Given the description of an element on the screen output the (x, y) to click on. 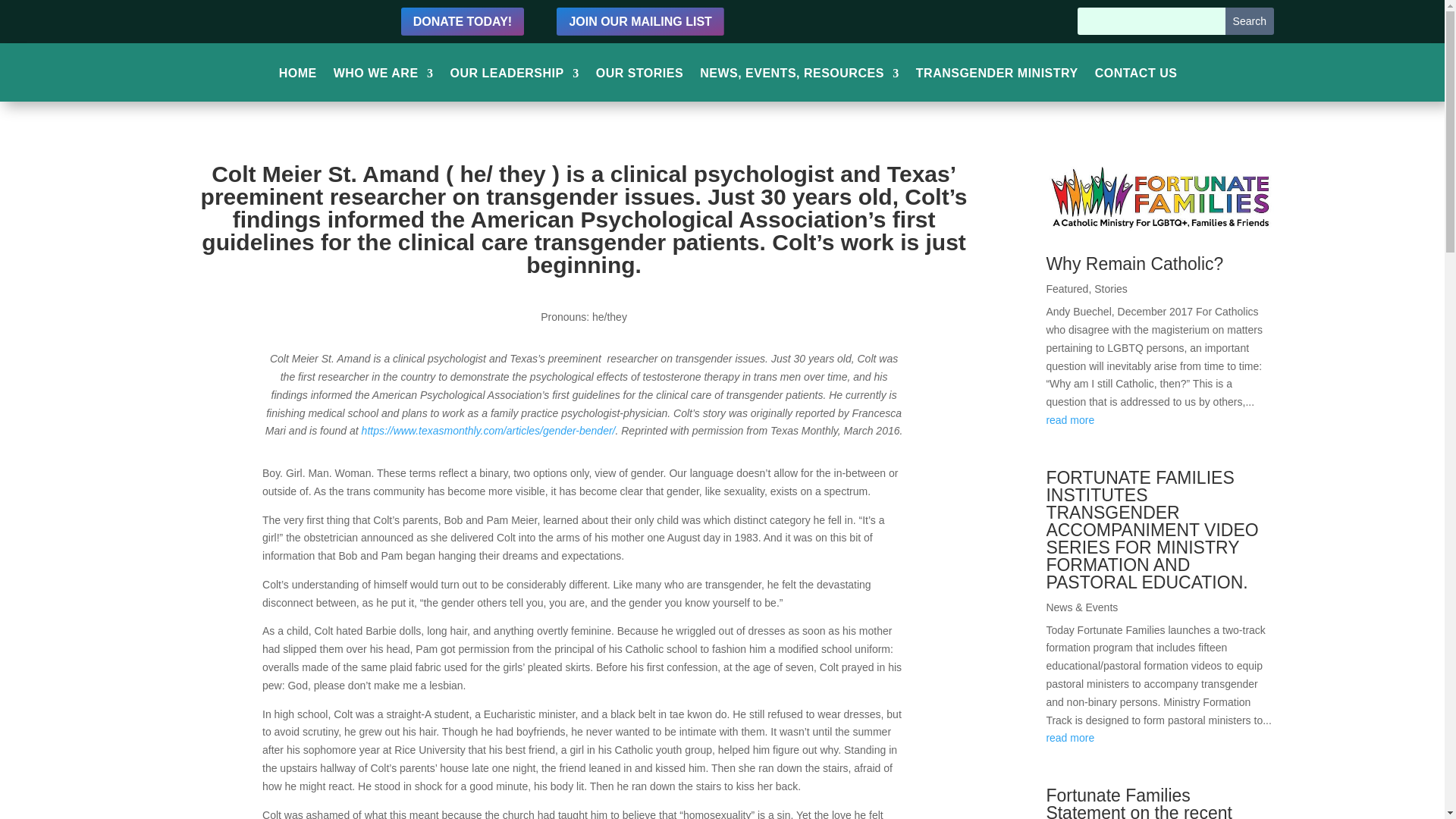
Search (1249, 21)
OUR LEADERSHIP (514, 76)
Search (1249, 21)
HOME (298, 76)
TRANSGENDER MINISTRY (996, 76)
DONATE TODAY! (462, 21)
JOIN OUR MAILING LIST (639, 21)
WHO WE ARE (383, 76)
OUR STORIES (638, 76)
NEWS, EVENTS, RESOURCES (799, 76)
CONTACT US (1135, 76)
Search (1249, 21)
